Given the description of an element on the screen output the (x, y) to click on. 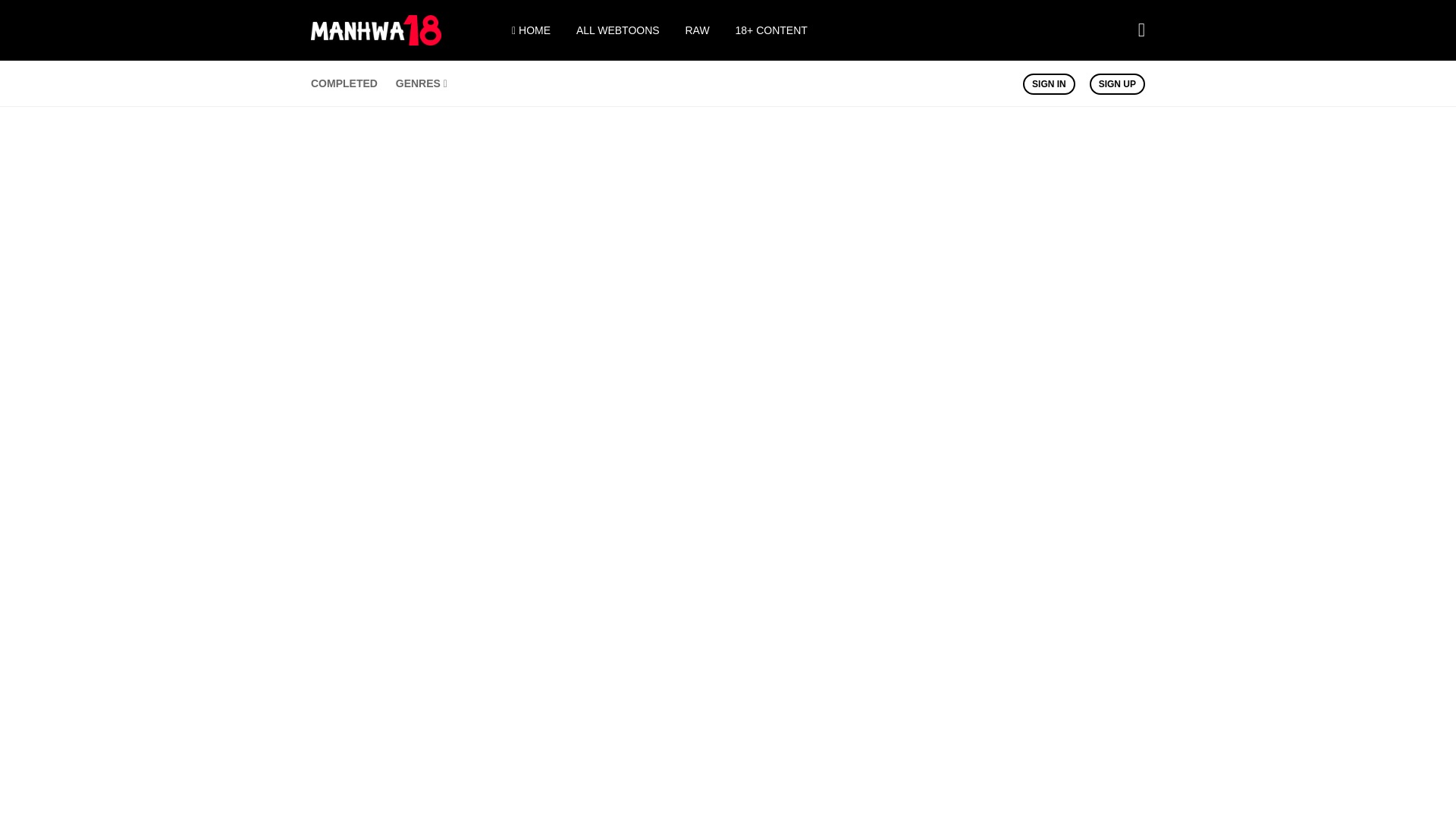
ALL WEBTOONS (617, 30)
Read Webtoons and Korean Manhwa in English for Free (376, 41)
Premium Webtoons Raw, Manhwa Raw (697, 30)
COMPLETED (344, 82)
Manga List - Genres: All (421, 82)
Read Webtoons and Korean Manhwa in English for Free (531, 30)
Completed Webtoons, Korean Manhwa (344, 82)
RAW (697, 30)
Browser all Webtoons and Korean Manhwa (617, 30)
Adult (771, 30)
